Given the description of an element on the screen output the (x, y) to click on. 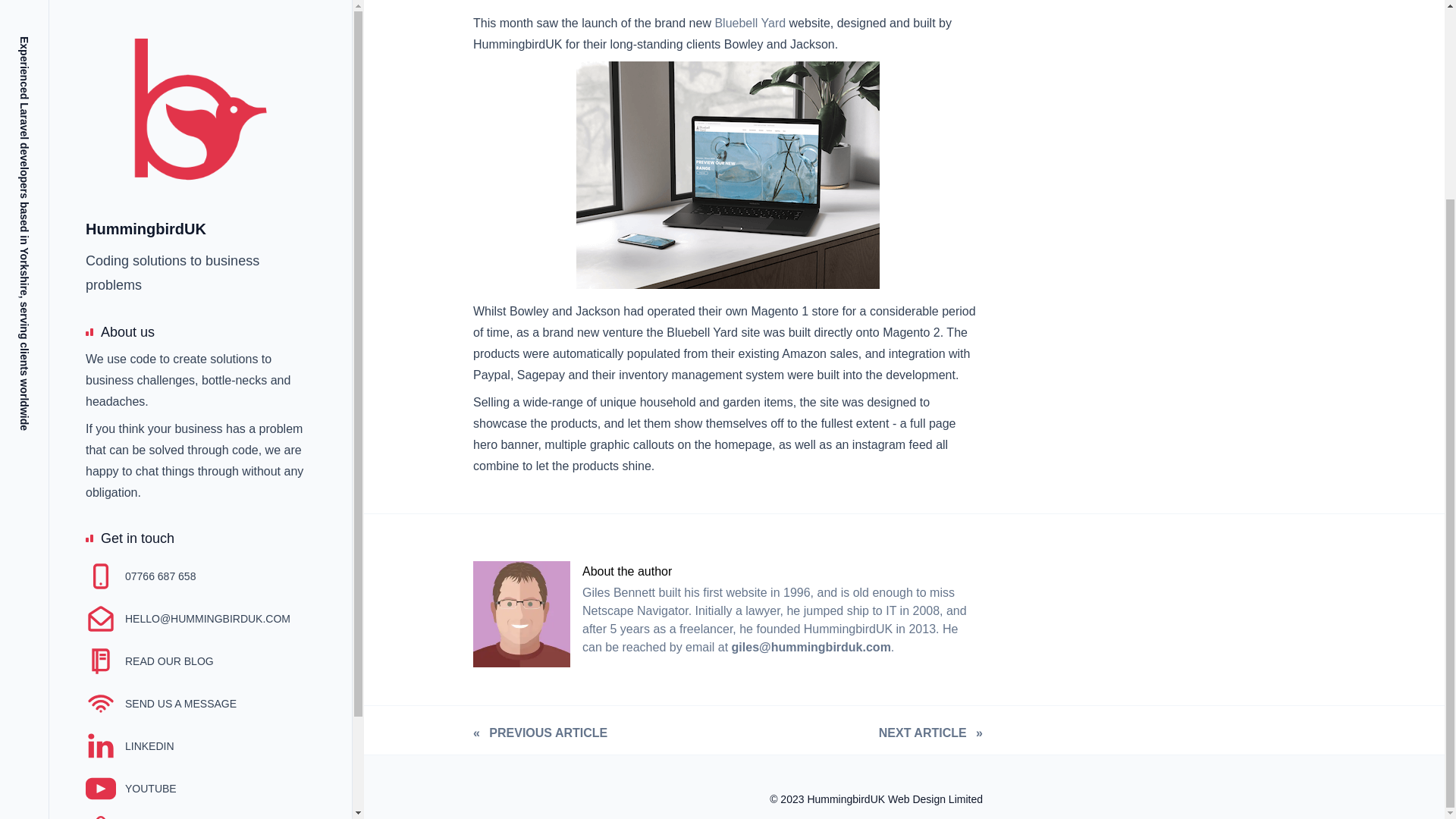
ATOM FEED (135, 577)
Bluebell Yard (750, 22)
READ OUR BLOG (149, 408)
LINKEDIN (129, 492)
07766 687 658 (140, 322)
RSS FEED (131, 620)
YOUTUBE (130, 535)
SEND US A MESSAGE (160, 450)
